Given the description of an element on the screen output the (x, y) to click on. 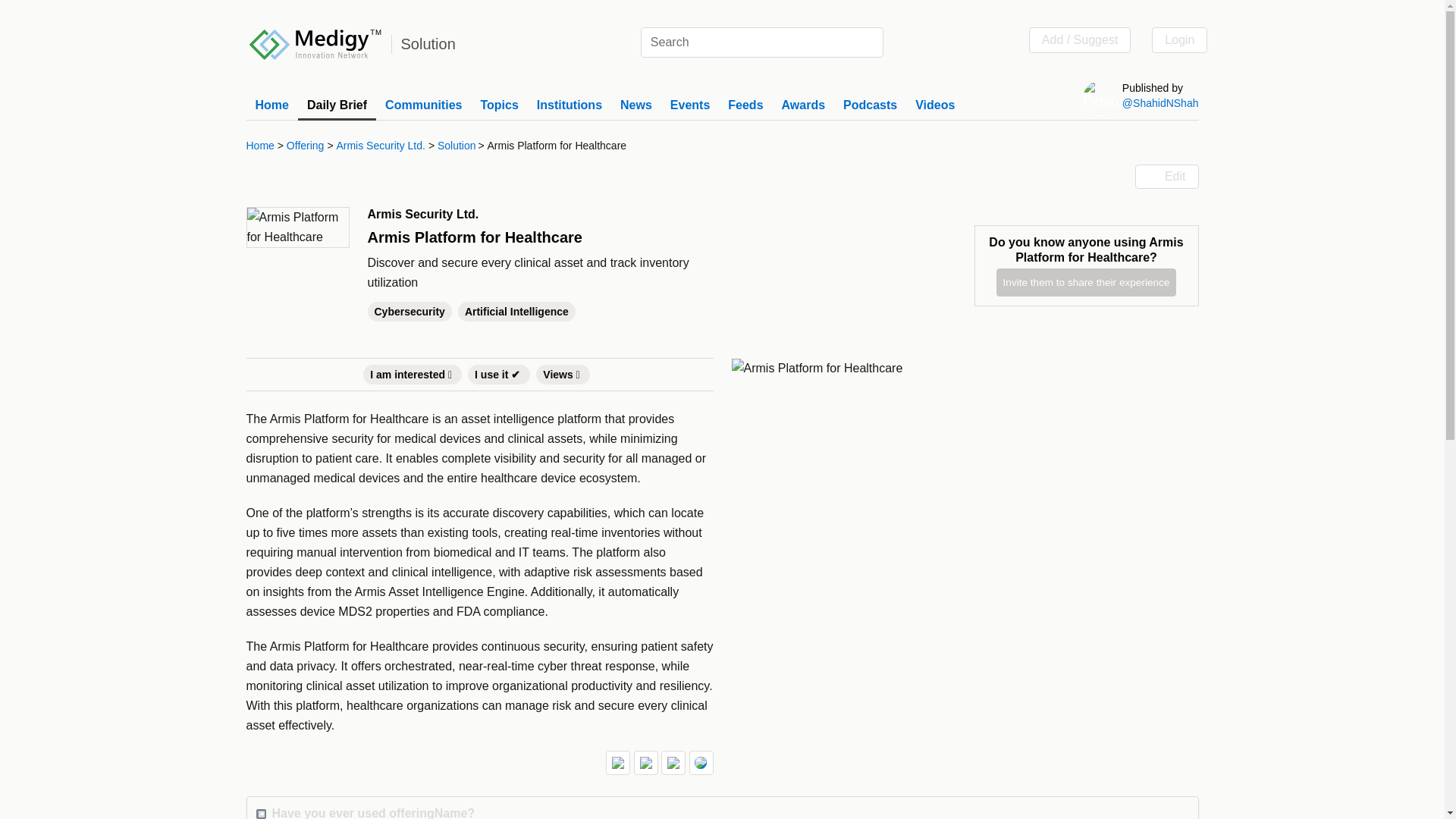
Cybersecurity (411, 310)
Topics (499, 105)
Events (689, 105)
Home (262, 145)
Search (869, 41)
Armis Security Ltd. (380, 145)
Medigy (314, 42)
News (636, 105)
Communities (423, 105)
Search (869, 41)
